Given the description of an element on the screen output the (x, y) to click on. 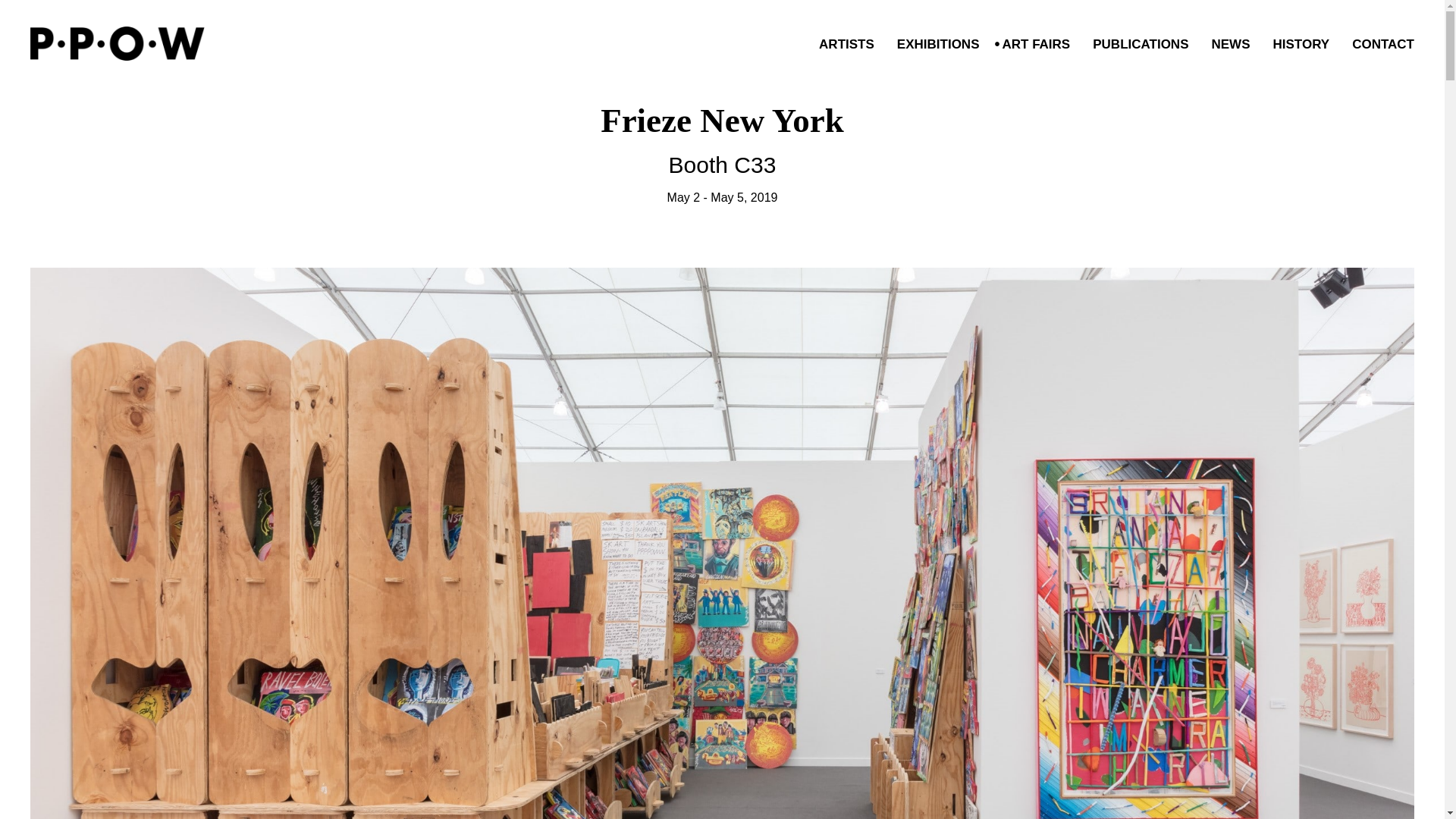
CONTACT (1378, 44)
ARTISTS (722, 153)
PUBLICATIONS (842, 44)
NEWS (1136, 44)
HISTORY (1226, 44)
EXHIBITIONS (1297, 44)
